Given the description of an element on the screen output the (x, y) to click on. 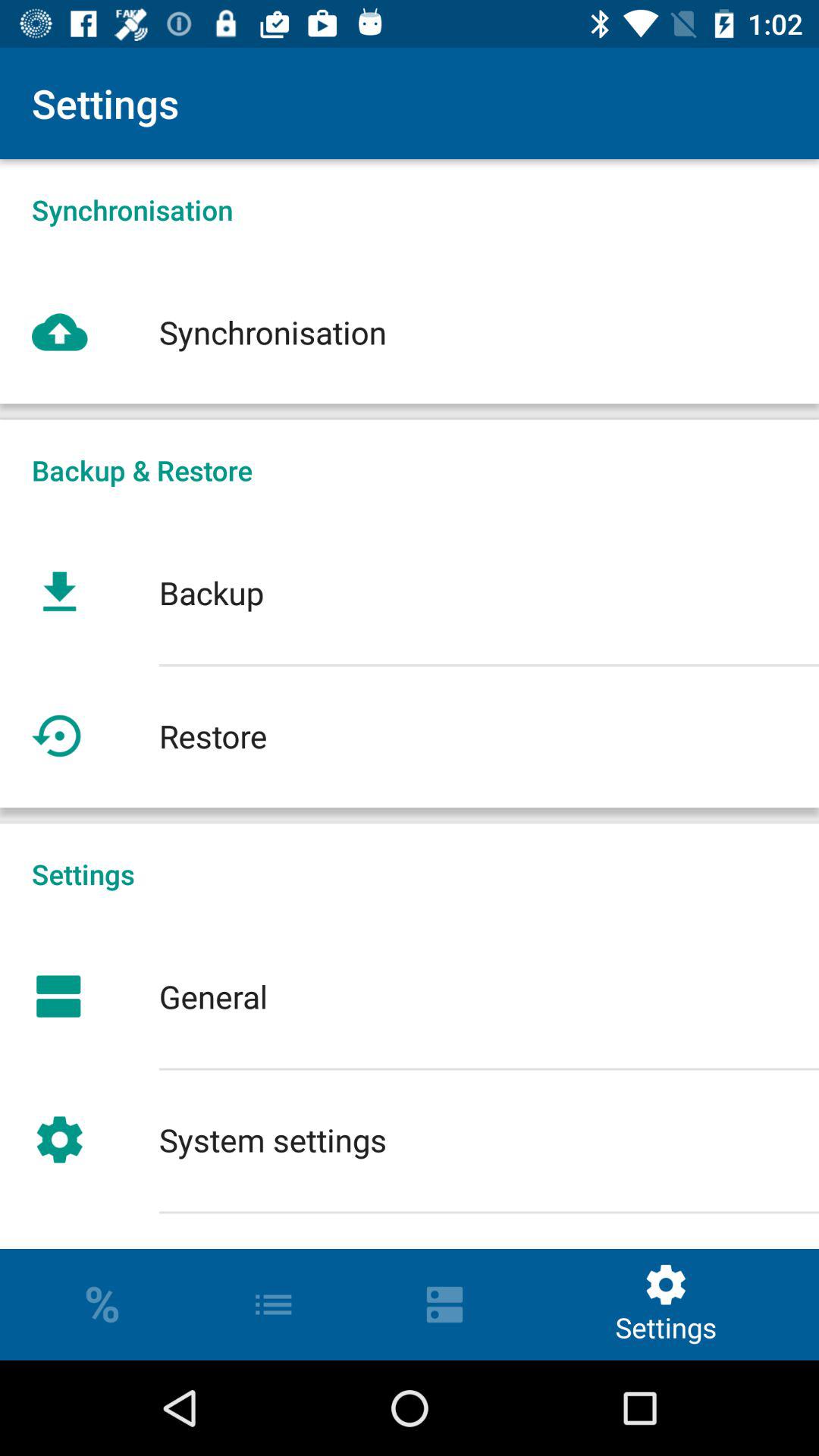
turn on the item above the system settings (409, 996)
